Given the description of an element on the screen output the (x, y) to click on. 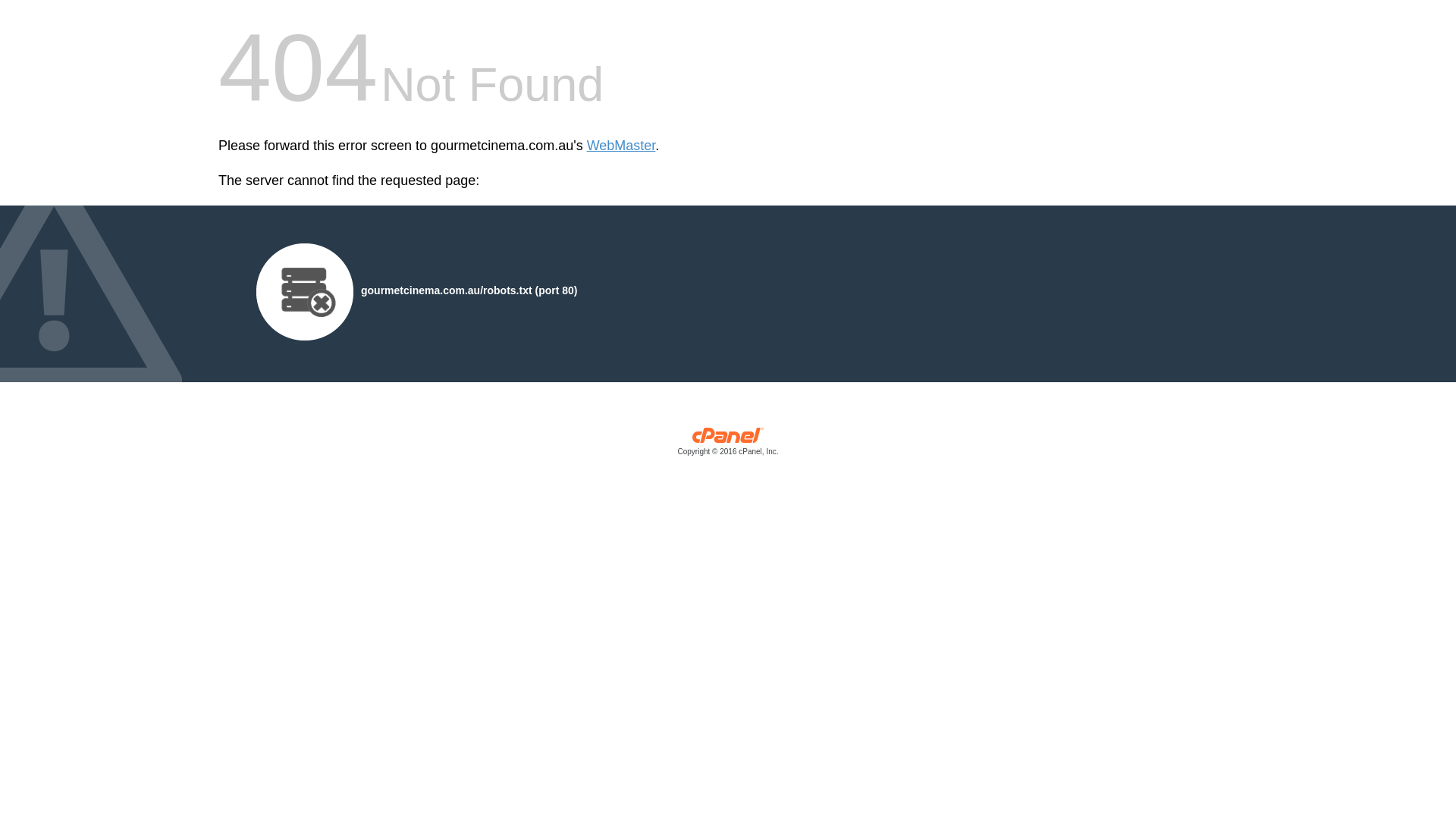
WebMaster Element type: text (620, 145)
